Given the description of an element on the screen output the (x, y) to click on. 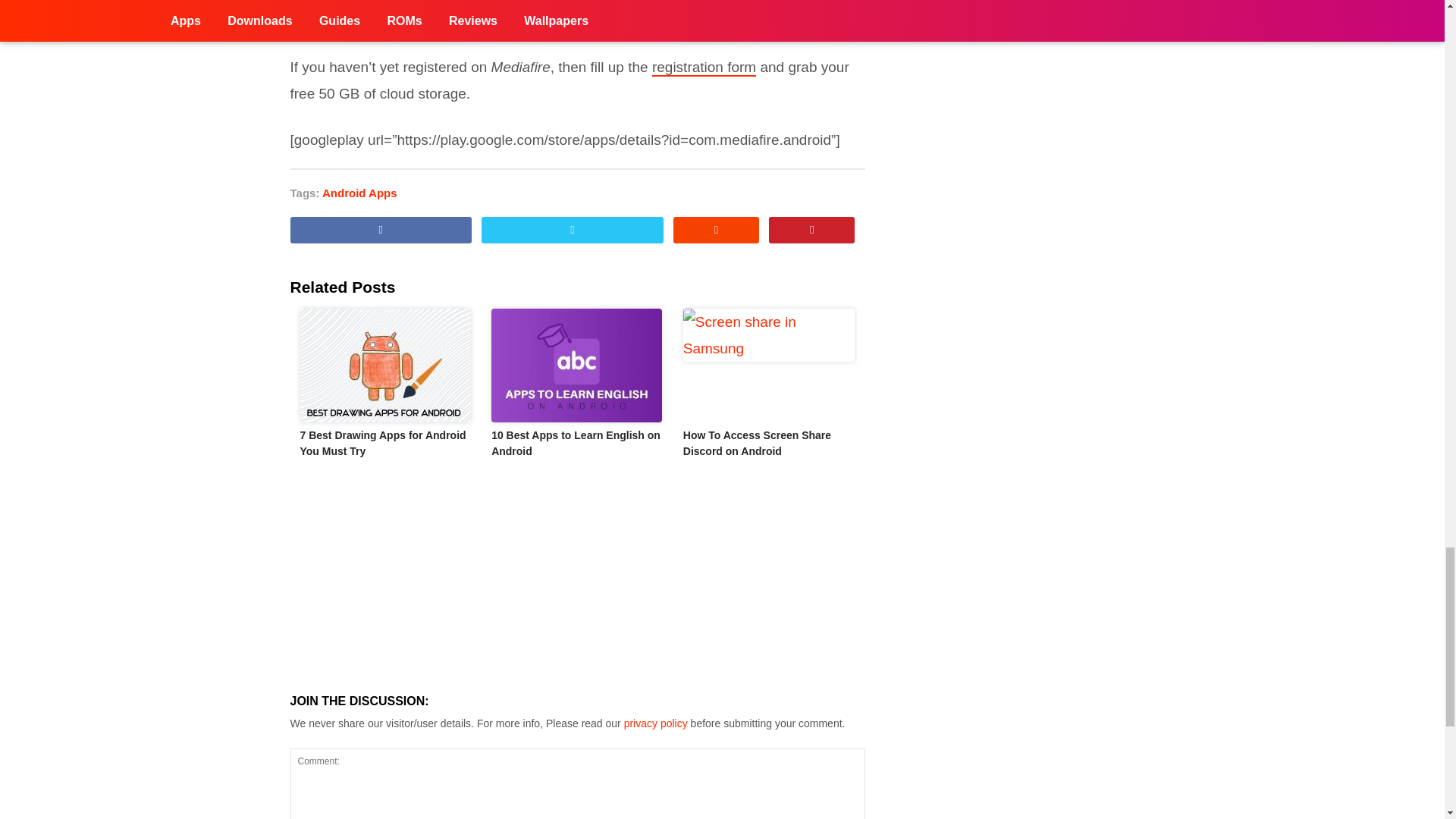
comment-policy-title (655, 723)
How To Access Screen Share Discord on Android (769, 365)
7 Best Drawing Apps for Android You Must Try (382, 443)
privacy policy (655, 723)
Android Apps (359, 192)
10 Best Apps to Learn English on Android (576, 443)
registration form (703, 67)
7 Best Drawing Apps for Android You Must Try (385, 365)
How To Access Screen Share Discord on Android (756, 443)
10 Best Apps to Learn English on Android (577, 365)
